Given the description of an element on the screen output the (x, y) to click on. 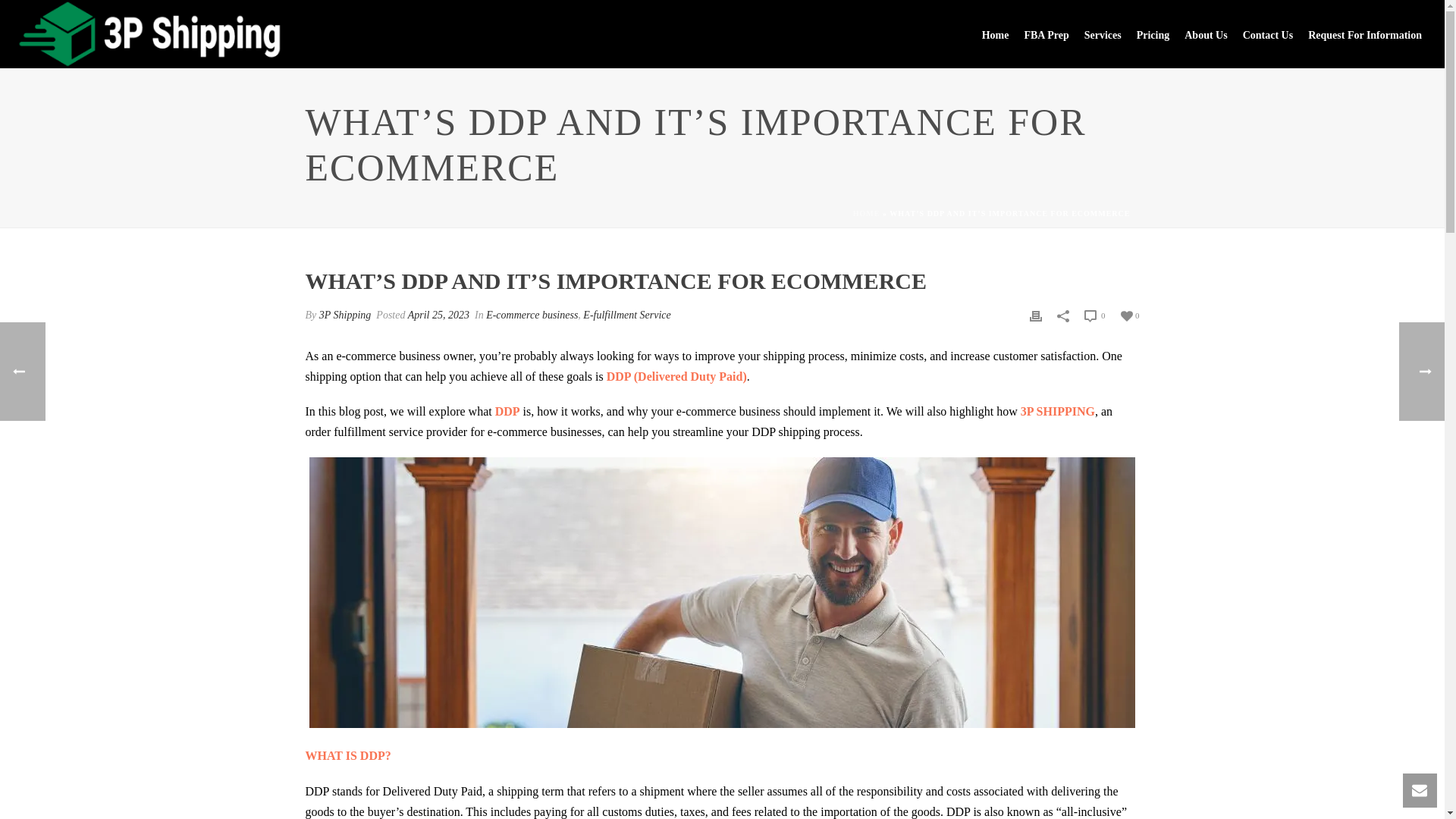
Contact Us (1260, 33)
E-fulfillment Service (626, 315)
Request For Information (1357, 33)
April 25, 2023 (437, 315)
3P Shipping (344, 315)
HOME (866, 213)
0 (1130, 315)
0 (1094, 315)
Request For Information (1357, 33)
E-commerce business (532, 315)
